Given the description of an element on the screen output the (x, y) to click on. 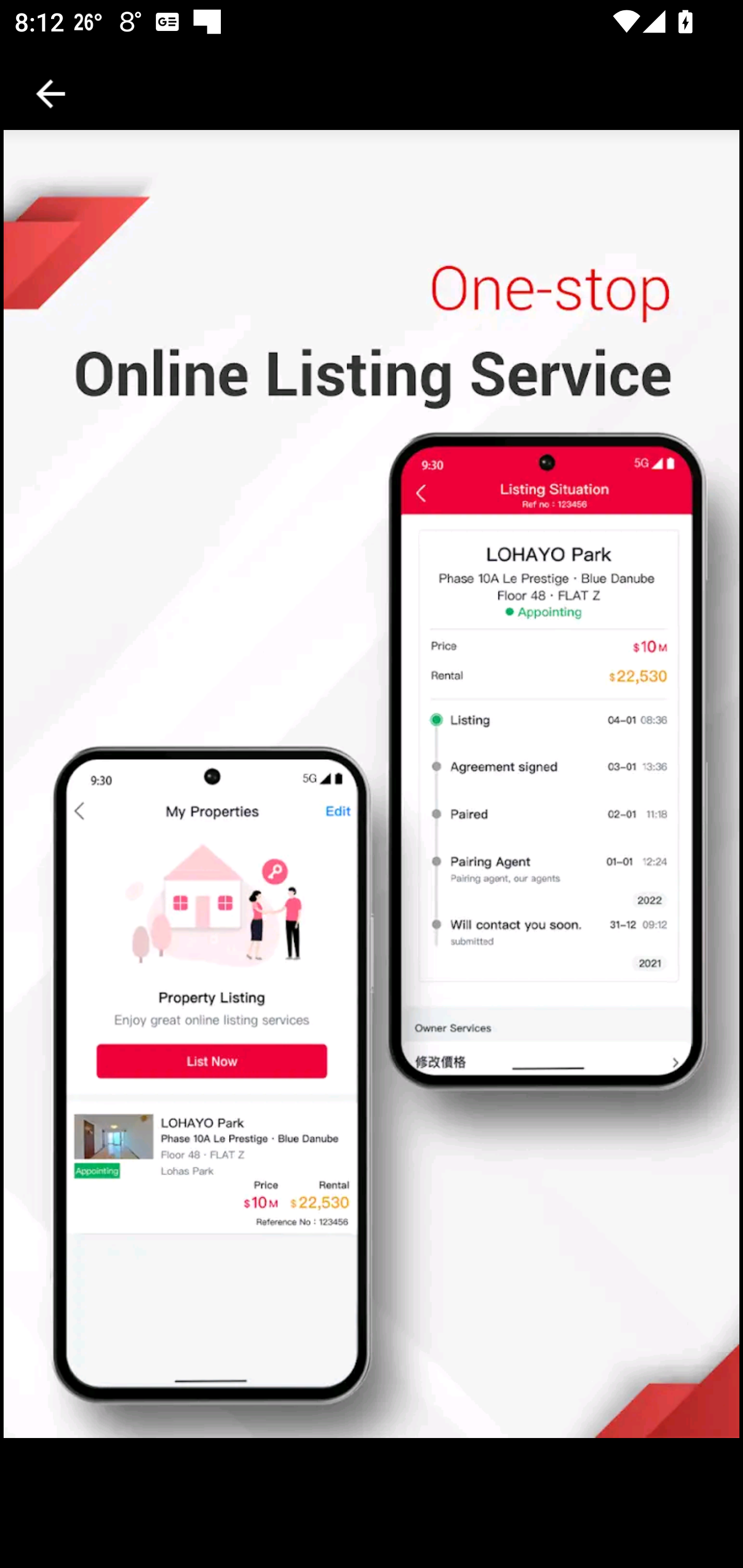
Back (50, 93)
